Given the description of an element on the screen output the (x, y) to click on. 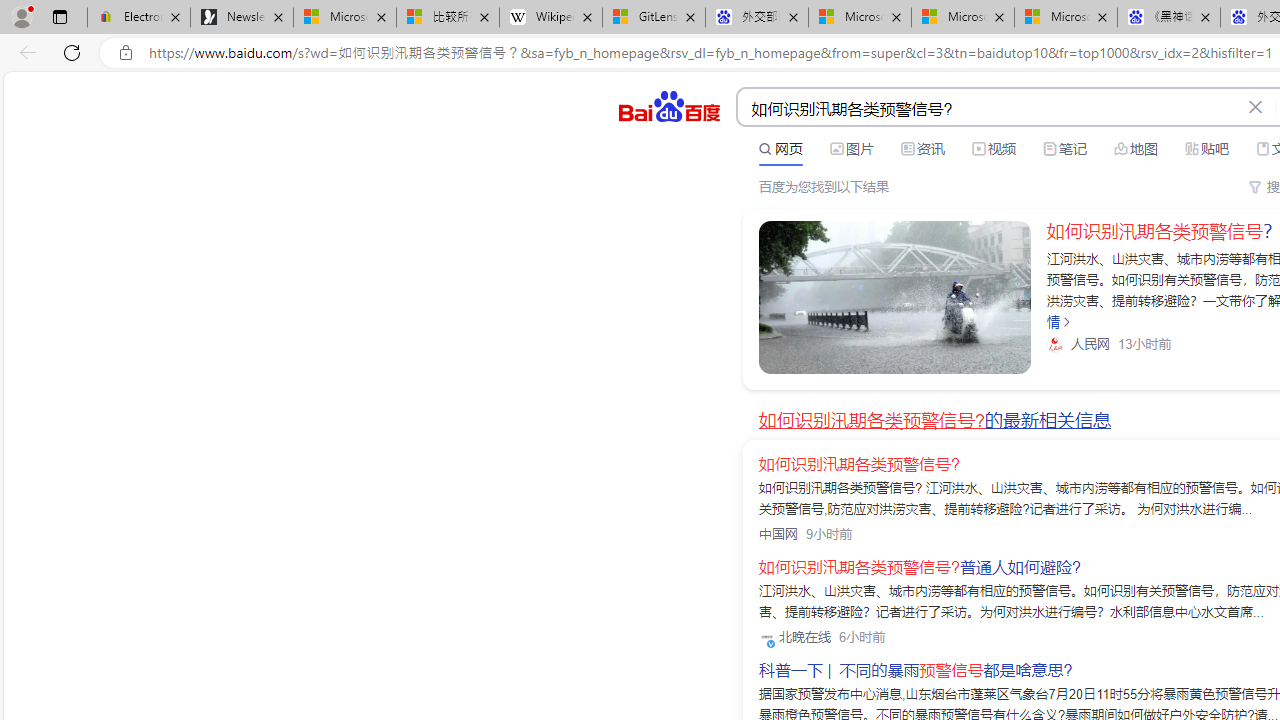
Newsletter Sign Up (241, 17)
AutomationID: kw (989, 107)
Class: sc-link _link_kwqvb_2 -v-color-primary block (894, 297)
